Given the description of an element on the screen output the (x, y) to click on. 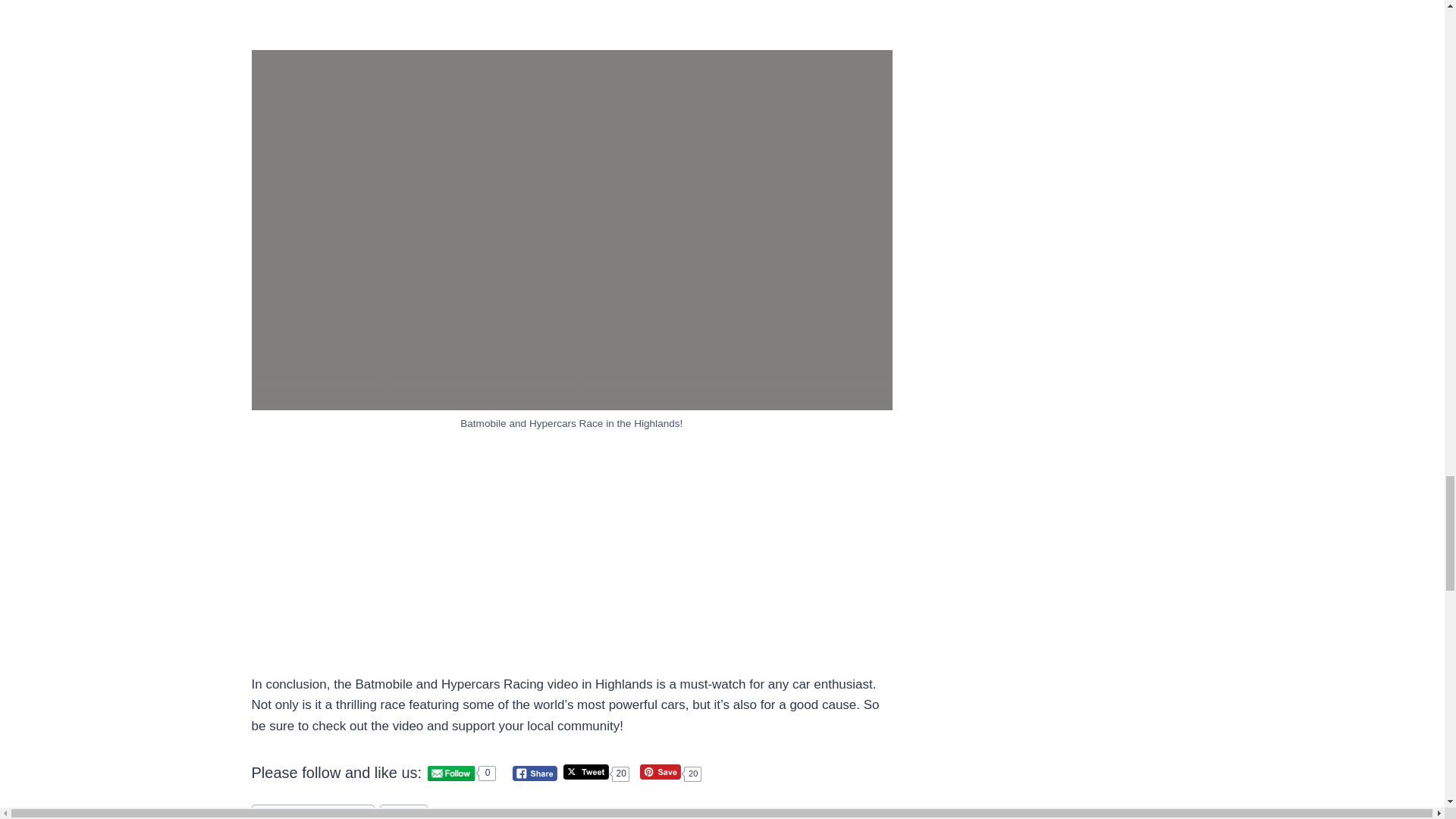
Facebook Share (534, 773)
racing (404, 811)
American Muscle Cars (313, 811)
Tweet (585, 771)
Pin Share (660, 771)
